Given the description of an element on the screen output the (x, y) to click on. 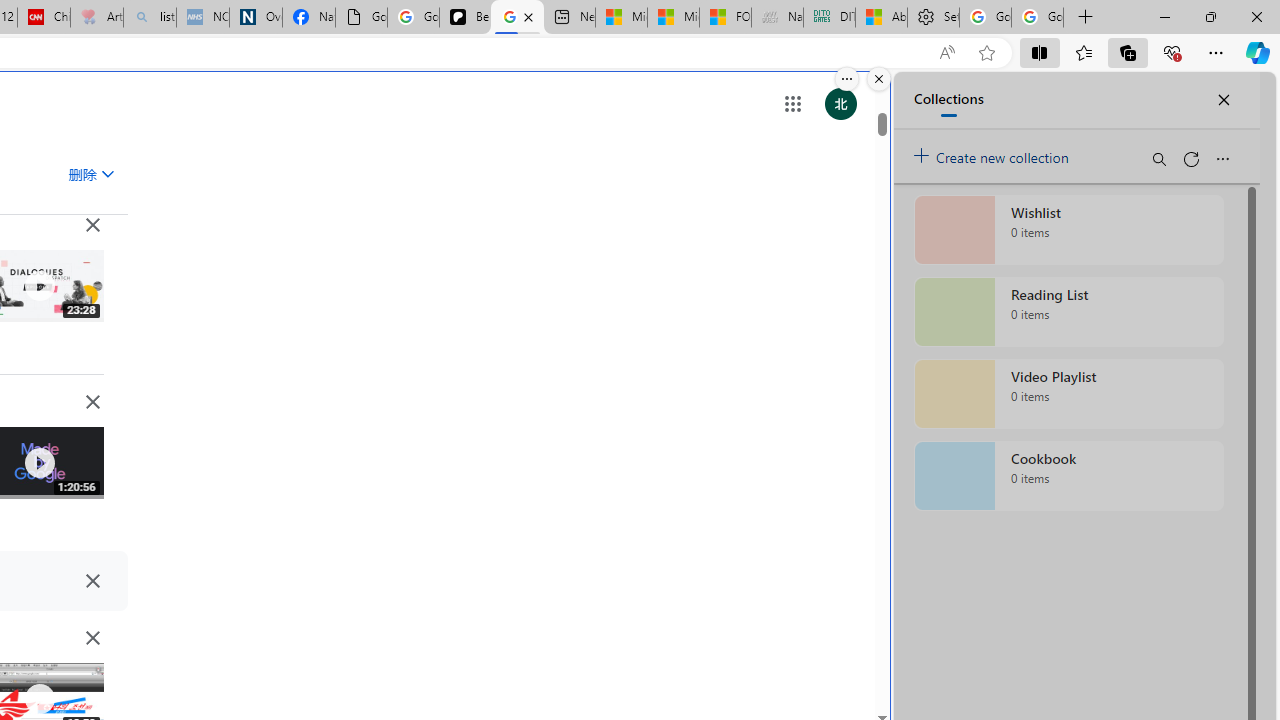
Class: asE2Ub NMm5M (107, 173)
Class: DI7Mnf NMm5M (91, 580)
Class: IVR0f NMm5M (38, 699)
More options. (846, 79)
